Given the description of an element on the screen output the (x, y) to click on. 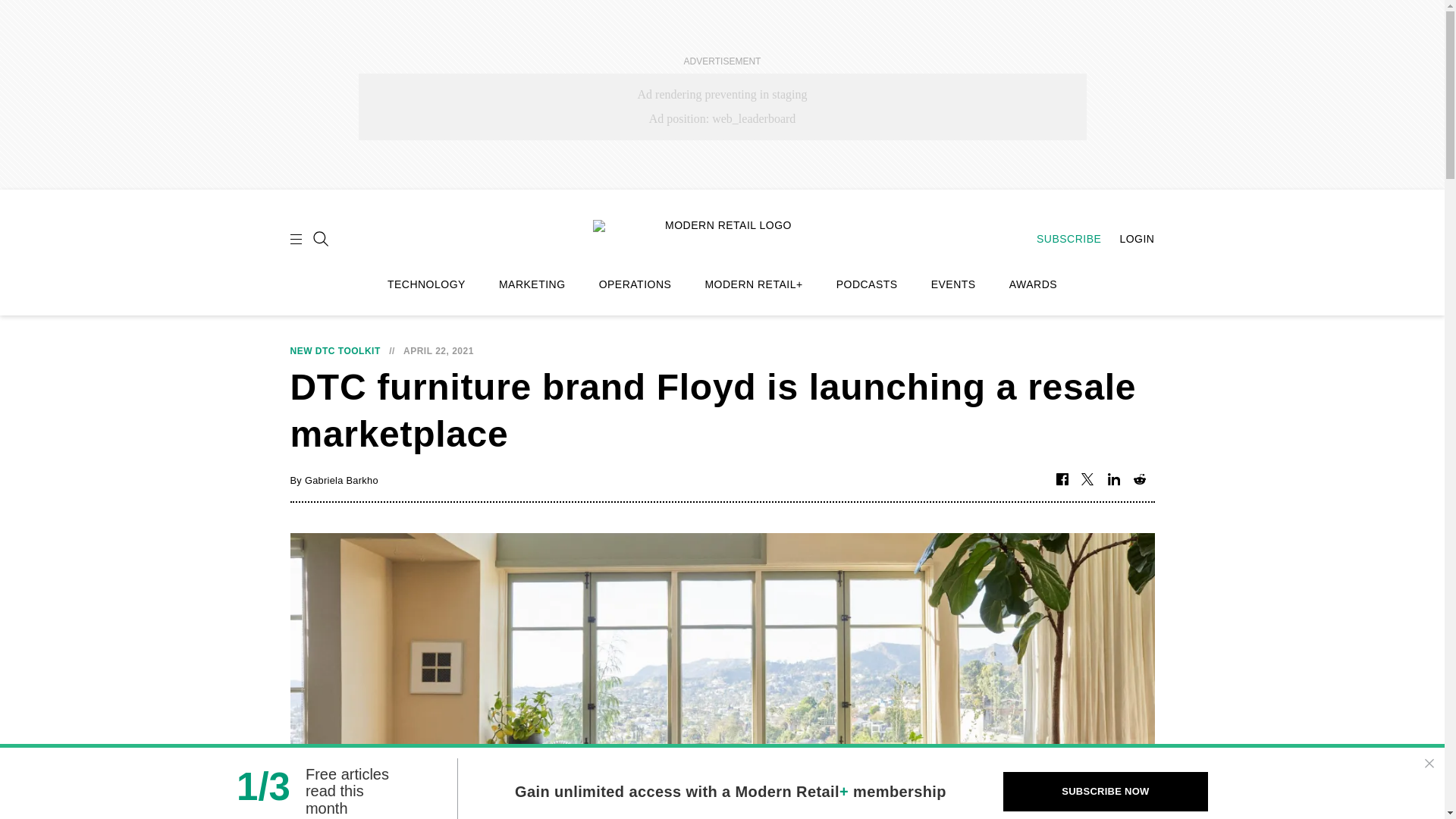
MARKETING (532, 284)
OPERATIONS (634, 284)
AWARDS (1033, 284)
LOGIN (1128, 238)
Modern Retail home (722, 236)
TECHNOLOGY (426, 284)
PODCASTS (866, 284)
EVENTS (953, 284)
Share on Twitter (1087, 480)
SUBSCRIBE (1061, 238)
Share on LinkedIn (1113, 480)
Share on Facebook (1061, 480)
Share on Reddit (1139, 480)
